Given the description of an element on the screen output the (x, y) to click on. 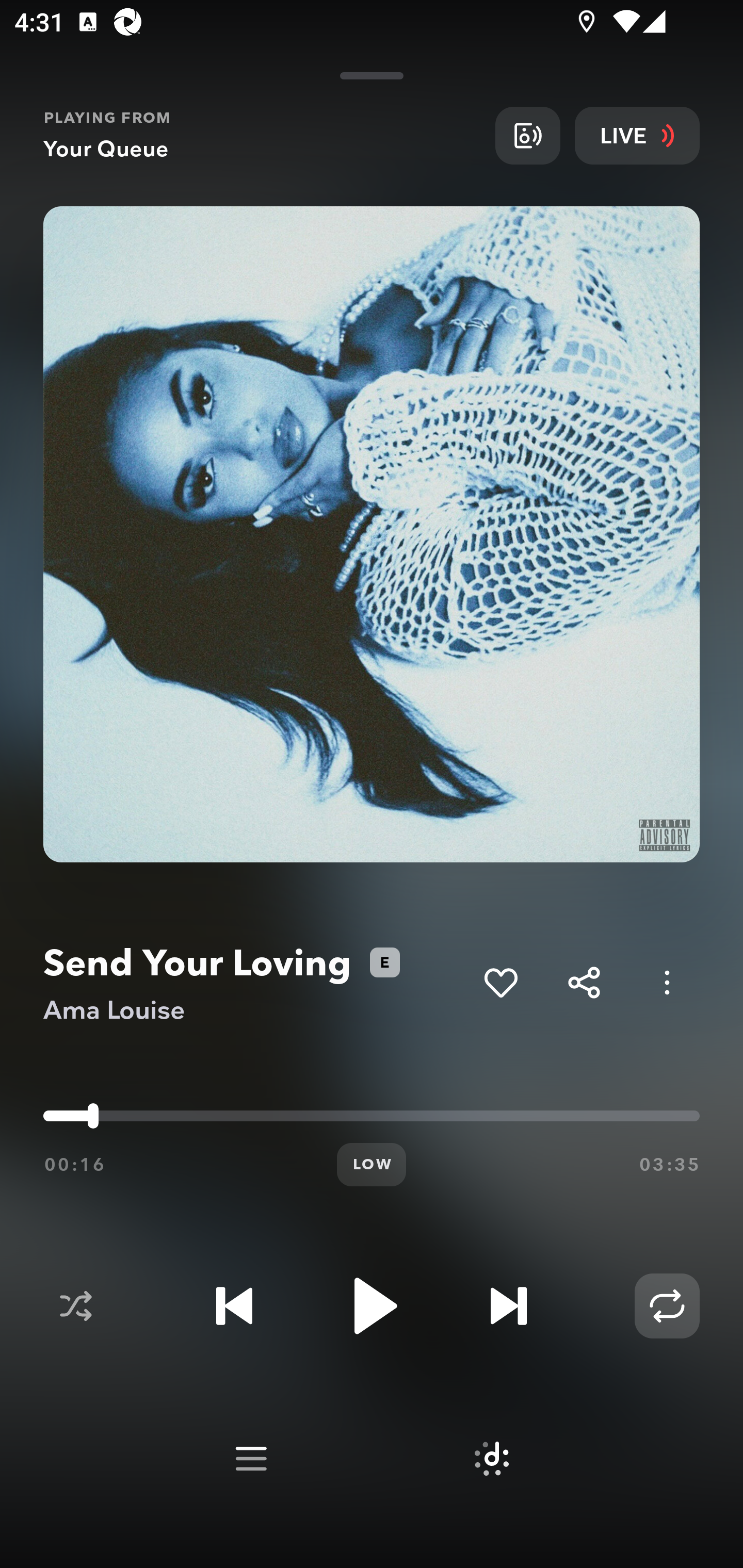
Broadcast (527, 135)
LIVE (637, 135)
PLAYING FROM Your Queue (261, 135)
Send Your Loving    Ama Louise (255, 983)
Add to My Collection (500, 982)
Share (583, 982)
Options (666, 982)
LOW (371, 1164)
Play (371, 1306)
Previous (234, 1306)
Next (508, 1306)
Shuffle disabled (75, 1306)
Repeat All (666, 1306)
Play queue (250, 1458)
Suggested tracks (491, 1458)
